Given the description of an element on the screen output the (x, y) to click on. 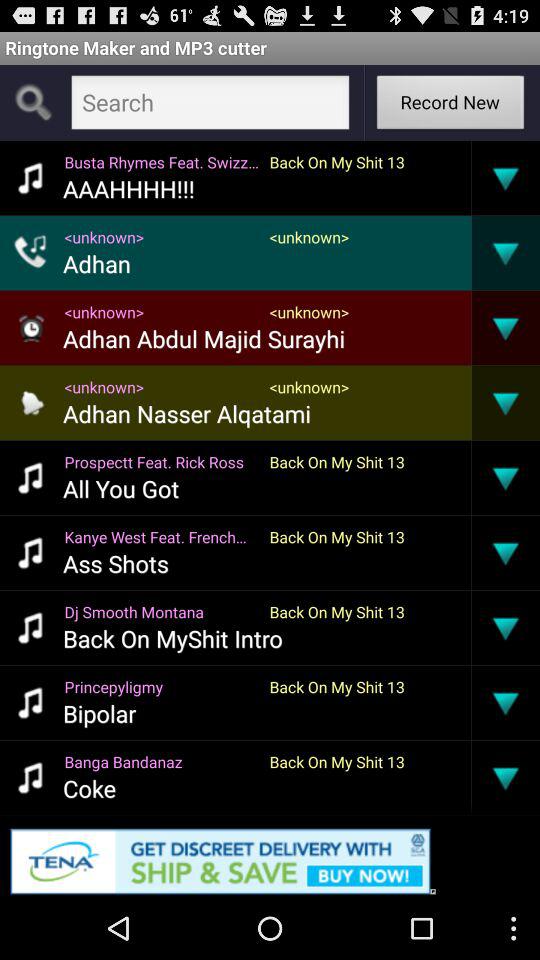
swipe until the busta rhymes feat item (161, 161)
